Given the description of an element on the screen output the (x, y) to click on. 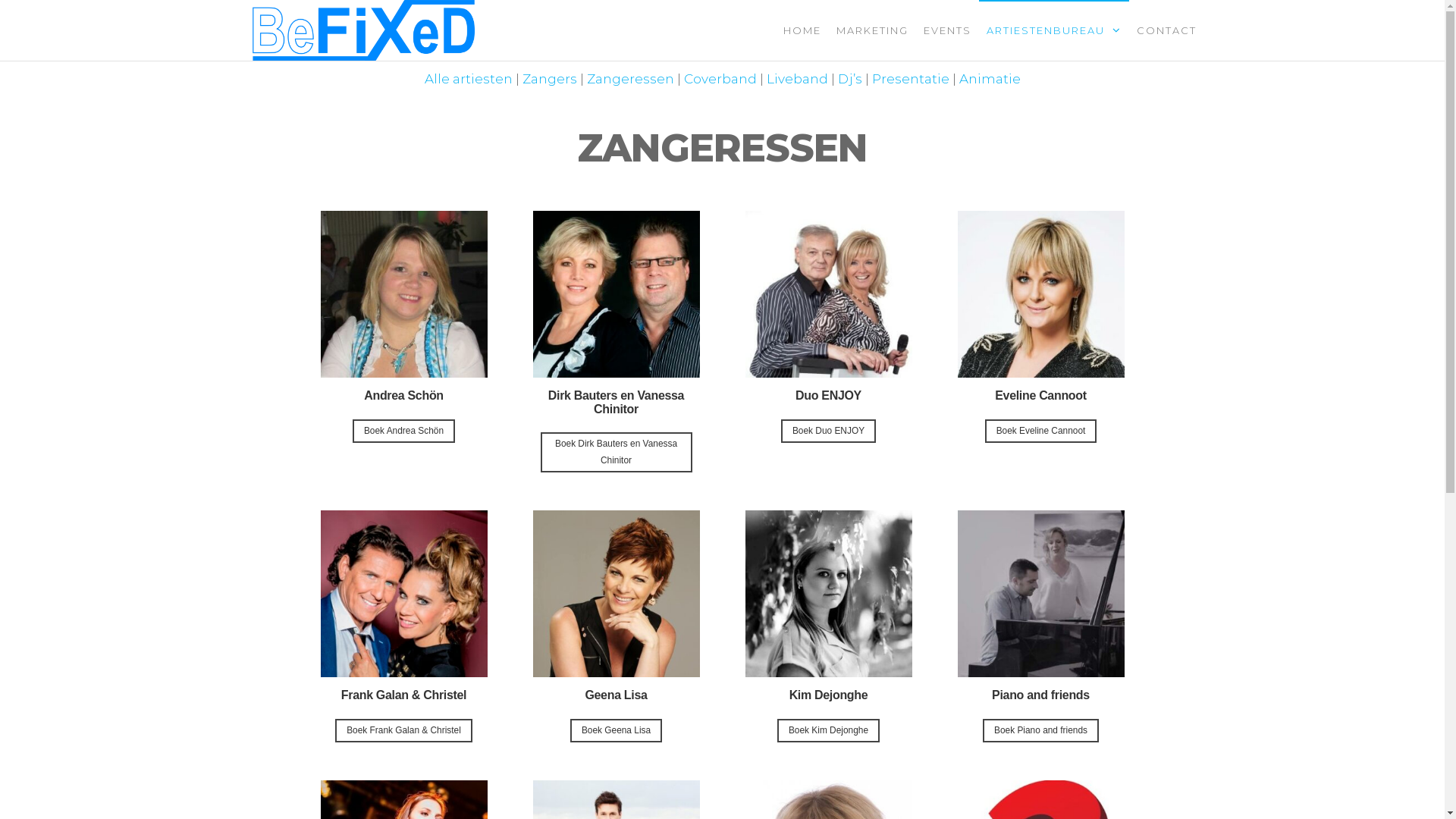
Zangers Element type: text (548, 78)
EVENTS Element type: text (947, 30)
Frank Galan & Christel
Boek Frank Galan & Christel Element type: text (403, 626)
ARTIESTENBUREAU Element type: text (1053, 30)
Zangeressen Element type: text (630, 78)
MARKETING Element type: text (871, 30)
Presentatie Element type: text (910, 78)
Coverband Element type: text (720, 78)
BEFIXED Element type: text (534, 42)
Alle artiesten Element type: text (468, 78)
Duo ENJOY
Boek Duo ENJOY Element type: text (827, 341)
Liveband Element type: text (796, 78)
CONTACT Element type: text (1165, 30)
HOME Element type: text (801, 30)
Kim Dejonghe
Boek Kim Dejonghe Element type: text (827, 626)
Eveline Cannoot
Boek Eveline Cannoot Element type: text (1040, 341)
Animatie Element type: text (988, 78)
Piano and friends
Boek Piano and friends Element type: text (1040, 626)
Geena Lisa
Boek Geena Lisa Element type: text (615, 626)
